Given the description of an element on the screen output the (x, y) to click on. 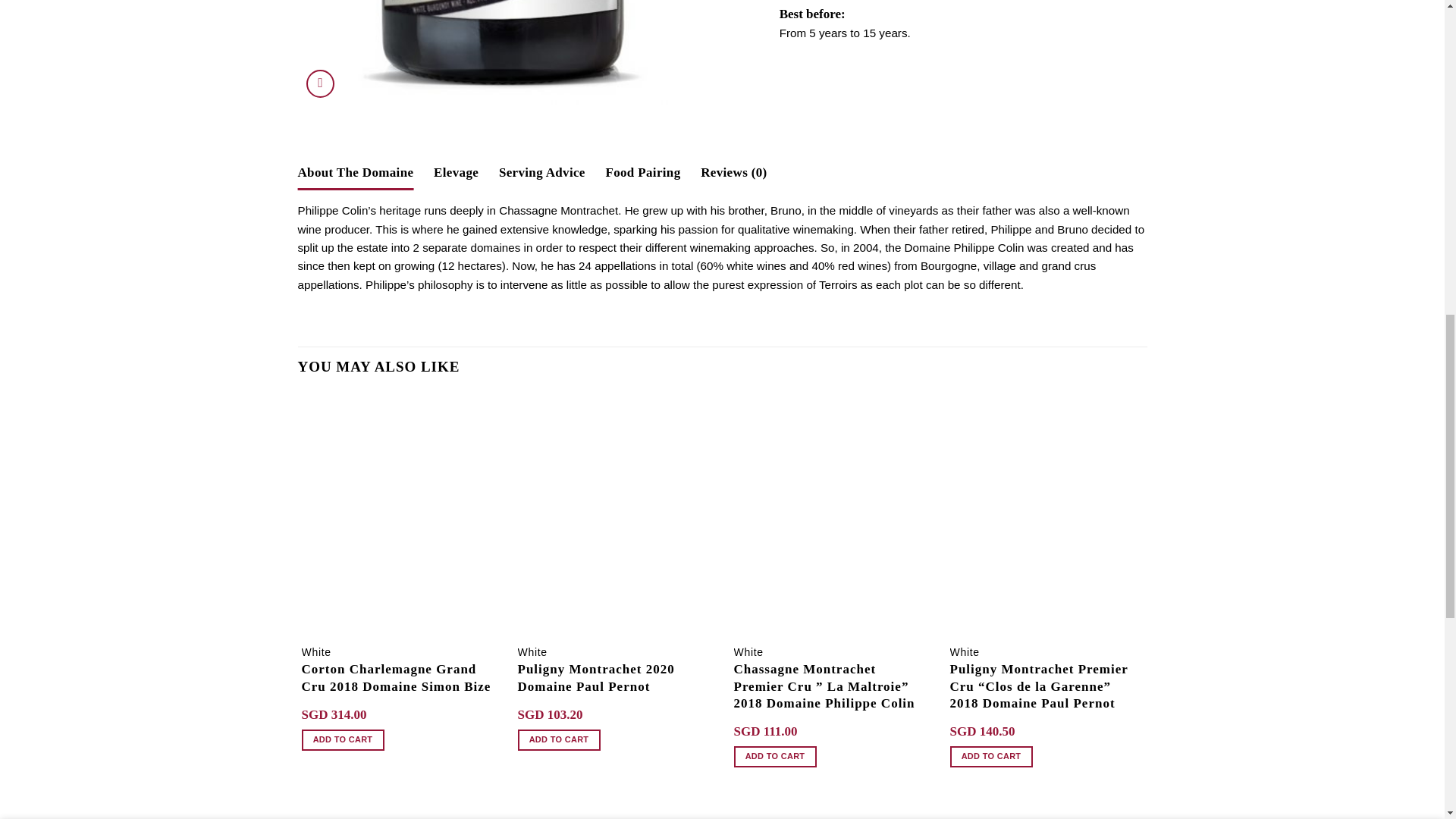
Elevage (456, 172)
About The Domaine (355, 172)
Serving Advice (542, 172)
Food Pairing (642, 172)
Submit (357, 759)
Zoom (319, 83)
